Given the description of an element on the screen output the (x, y) to click on. 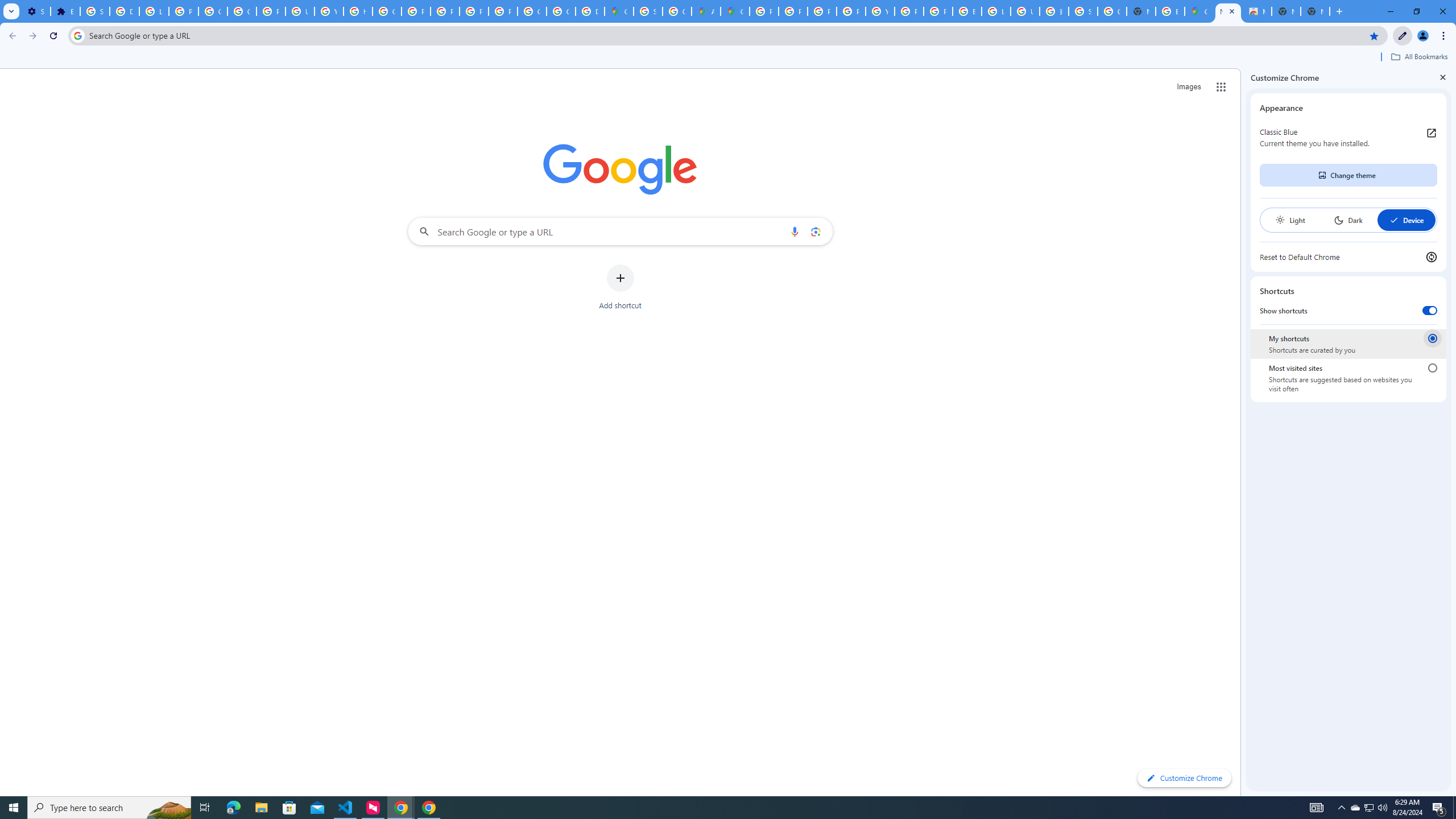
Delete photos & videos - Computer - Google Photos Help (124, 11)
Privacy Help Center - Policies Help (415, 11)
